Given the description of an element on the screen output the (x, y) to click on. 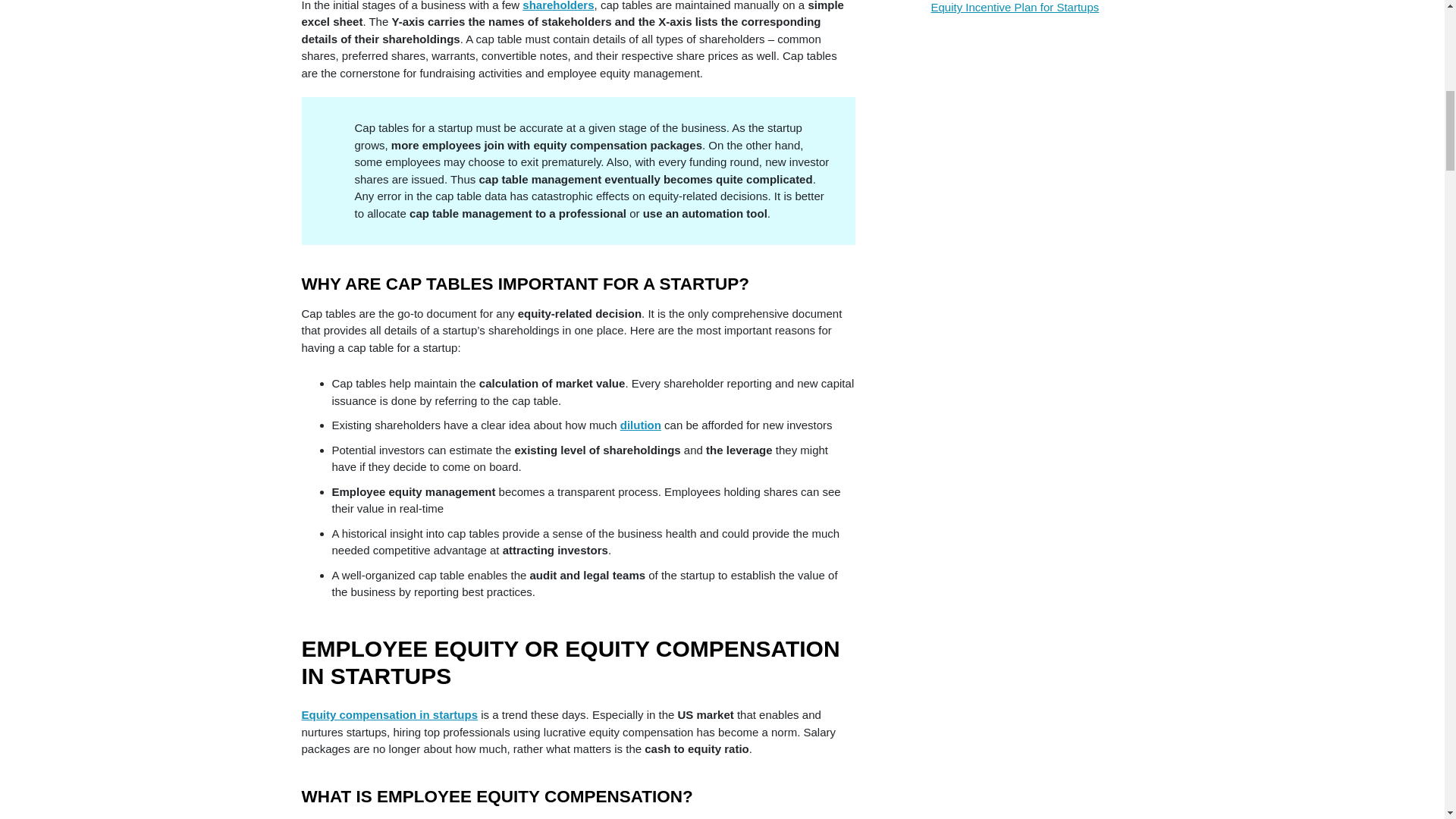
shareholders (558, 5)
Equity compensation in startups (390, 714)
dilution (640, 424)
